Given the description of an element on the screen output the (x, y) to click on. 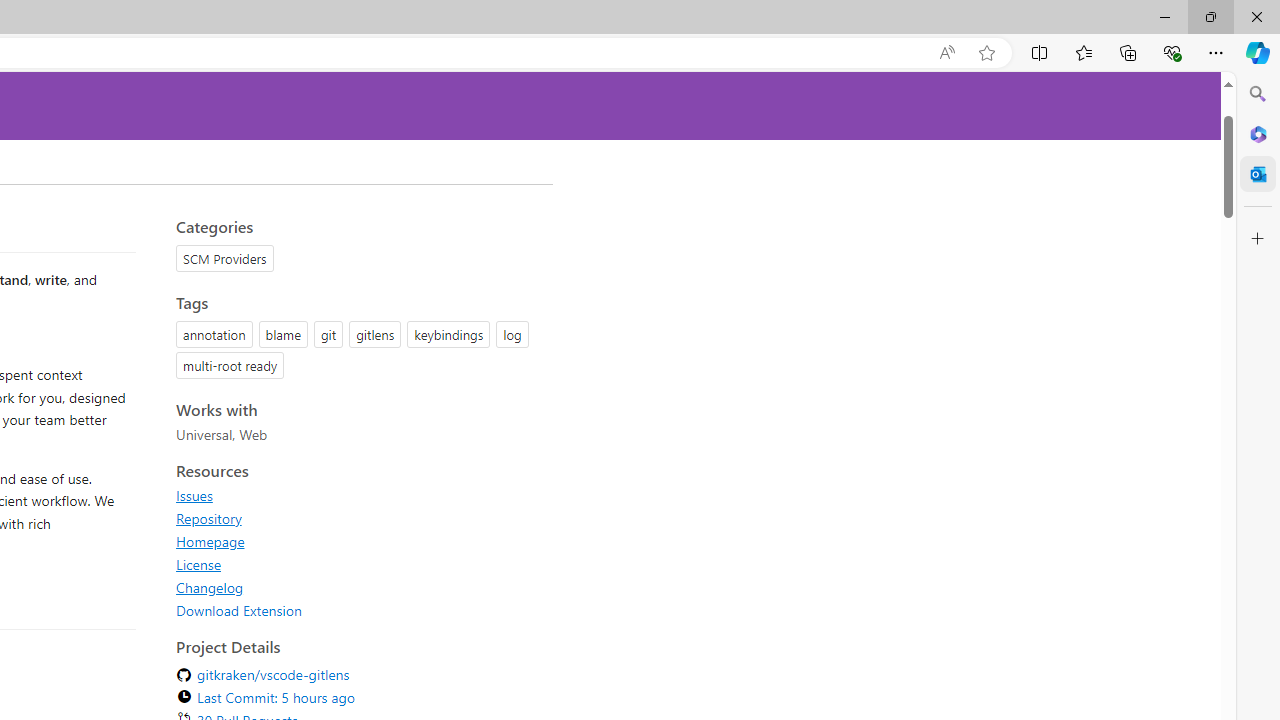
Download Extension (239, 610)
